Given the description of an element on the screen output the (x, y) to click on. 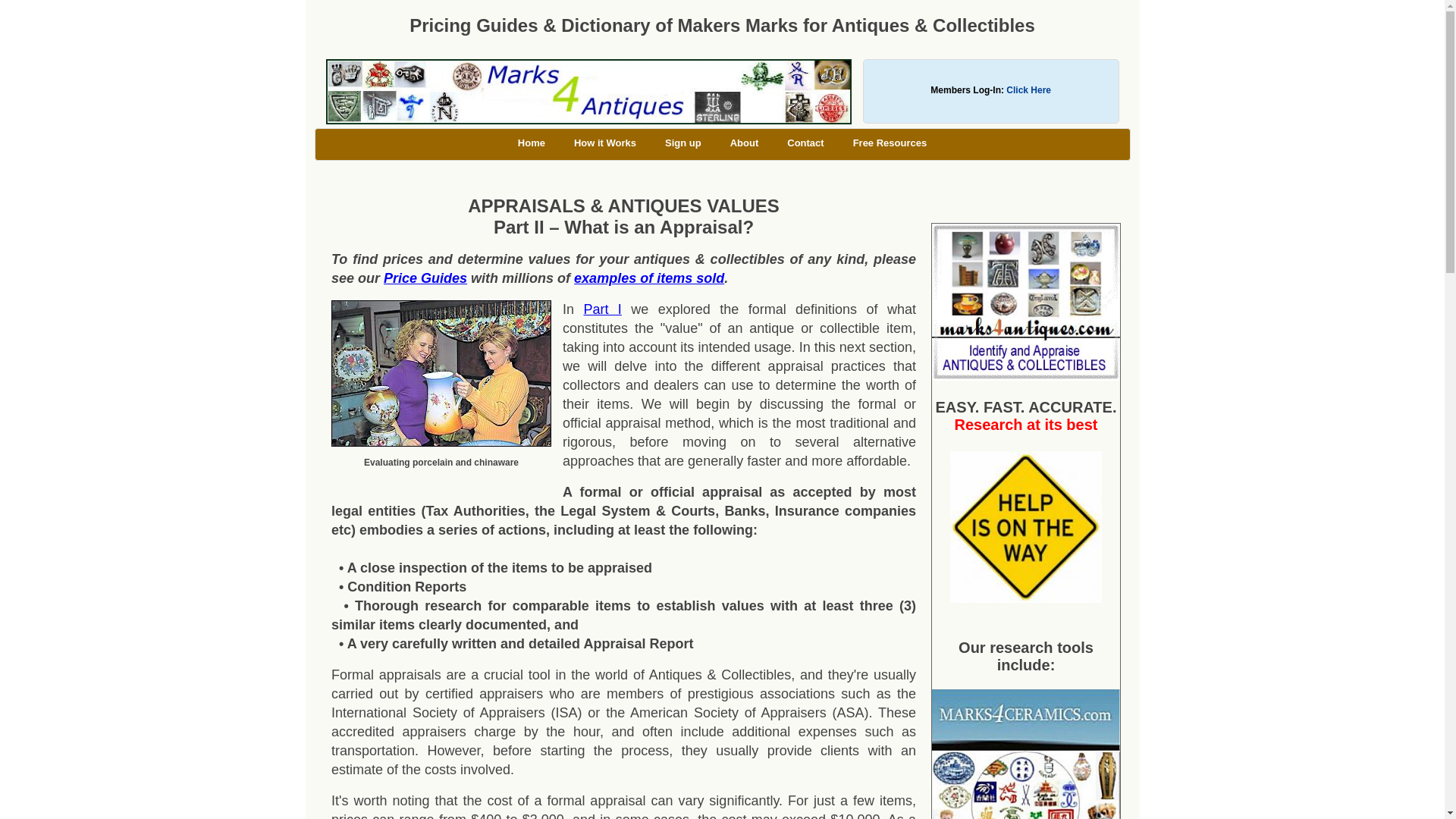
Click Here (1028, 90)
Sign up (683, 142)
Price Guides (425, 278)
How it Works (604, 142)
Contact (805, 142)
Home (531, 142)
examples of items sold (648, 278)
About (744, 142)
Part I (602, 309)
